Given the description of an element on the screen output the (x, y) to click on. 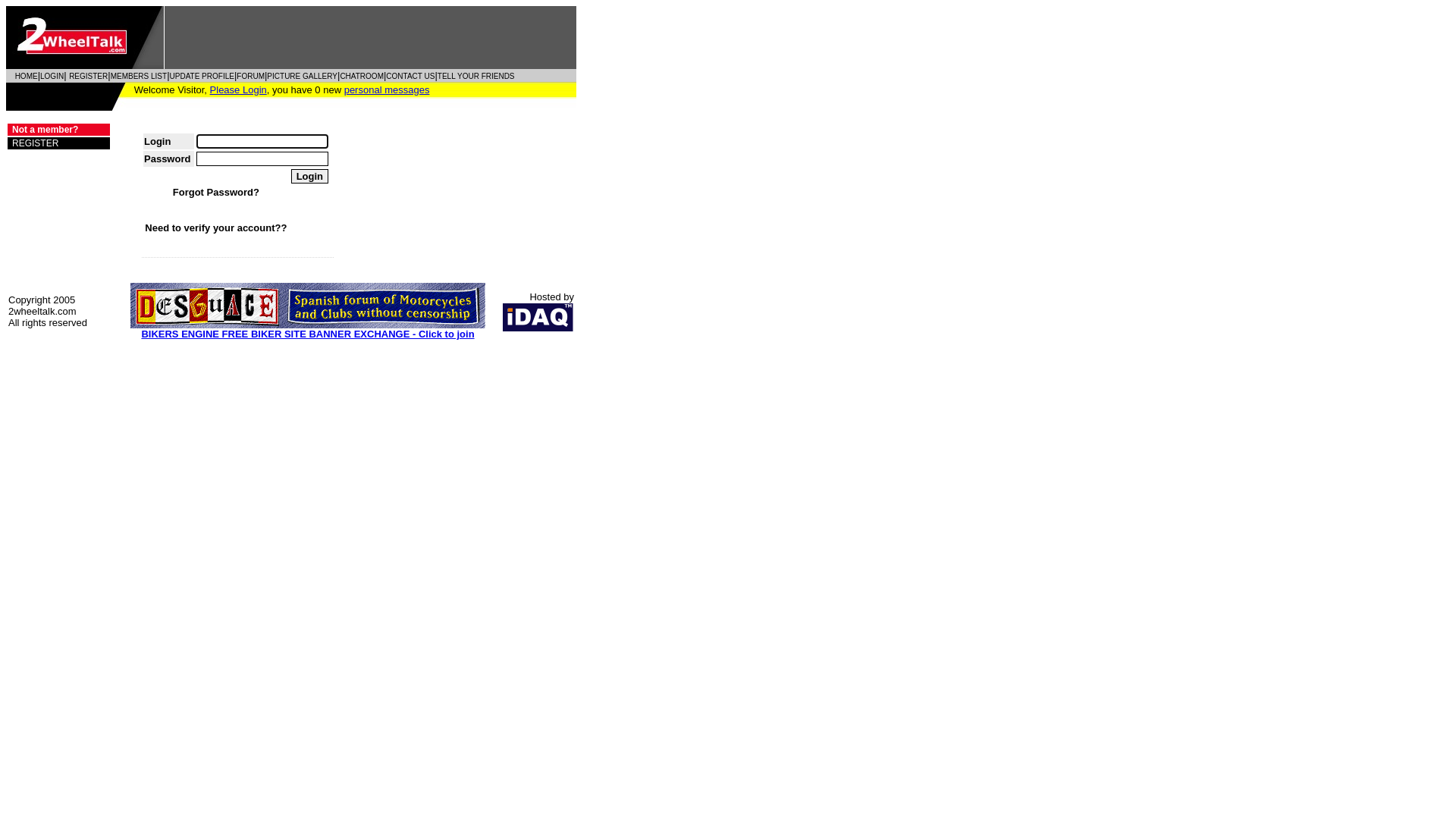
HOME Element type: text (26, 76)
personal messages Element type: text (386, 89)
REGISTER Element type: text (88, 76)
MEMBERS LIST Element type: text (138, 76)
UPDATE PROFILE Element type: text (201, 76)
CHATROOM Element type: text (361, 76)
FORUM Element type: text (250, 76)
Please Login Element type: text (238, 89)
PICTURE GALLERY Element type: text (301, 76)
LOGIN Element type: text (51, 76)
TELL YOUR FRIENDS Element type: text (475, 76)
Click here Element type: text (282, 192)
Login Element type: text (309, 176)
CONTACT US Element type: text (409, 76)
Click here Element type: text (309, 227)
Advertisement Element type: hover (369, 37)
REGISTER Element type: text (33, 143)
